Given the description of an element on the screen output the (x, y) to click on. 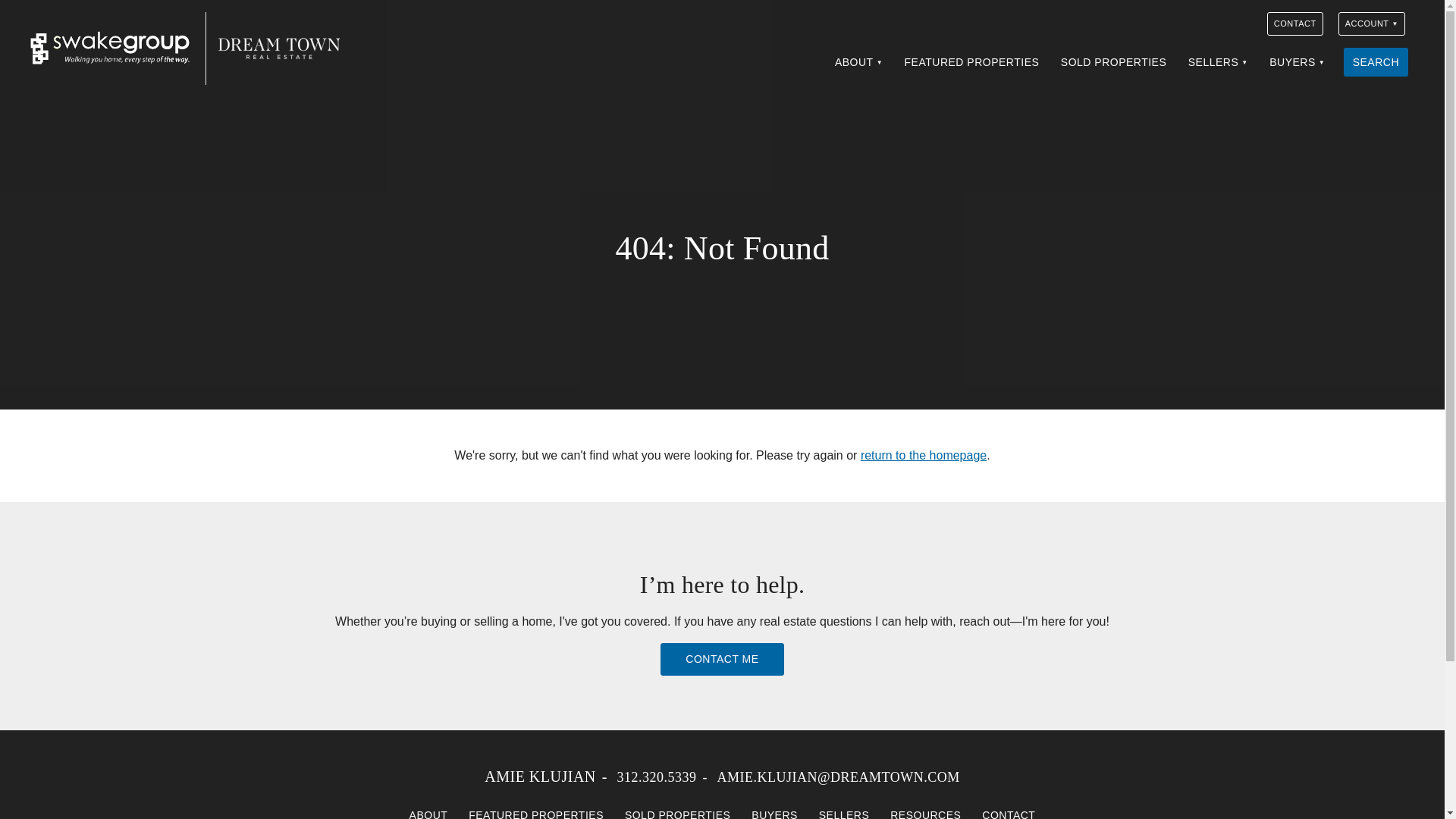
return to the homepage (923, 454)
SOLD PROPERTIES (677, 809)
Amie Klujian (108, 48)
RESOURCES (924, 809)
SELLERS (1218, 61)
FEATURED PROPERTIES (536, 809)
AMIE KLUJIAN (539, 776)
BUYERS (774, 809)
Dream Town Real Estate (278, 48)
ABOUT (858, 61)
312.320.5339 (655, 776)
ACCOUNT (1371, 24)
SELLERS (844, 809)
CONTACT (1294, 24)
FEATURED PROPERTIES (971, 61)
